Given the description of an element on the screen output the (x, y) to click on. 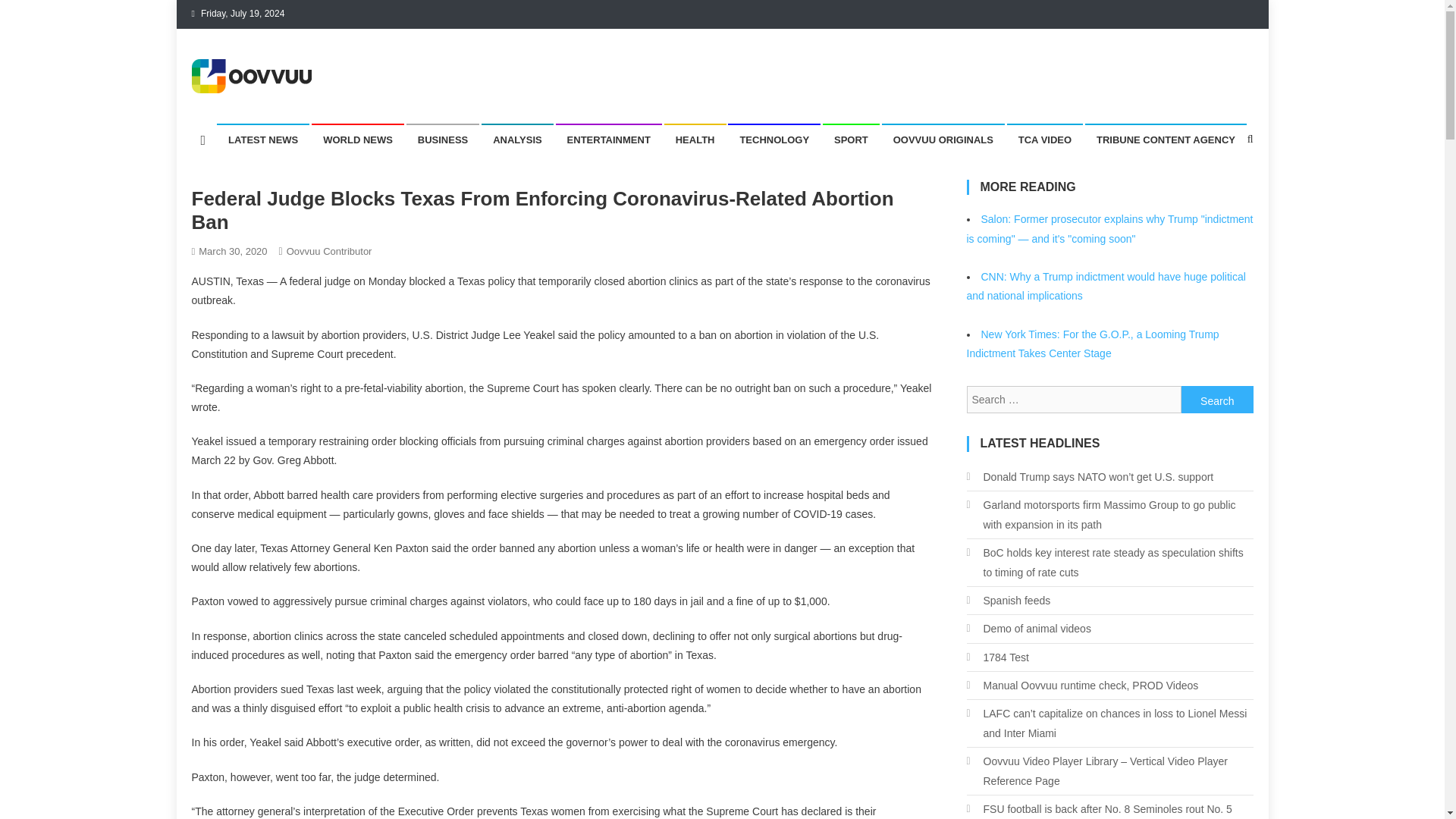
Search (1216, 399)
Manual Oovvuu runtime check, PROD Videos (1082, 685)
ENTERTAINMENT (609, 140)
Demo of animal videos (1028, 628)
OOVVUU ORIGINALS (943, 140)
Oovvuu Contributor (329, 251)
BUSINESS (442, 140)
SPORT (850, 140)
WORLD NEWS (357, 140)
TRIBUNE CONTENT AGENCY (1165, 140)
Oovvuu (235, 108)
HEALTH (694, 140)
